Given the description of an element on the screen output the (x, y) to click on. 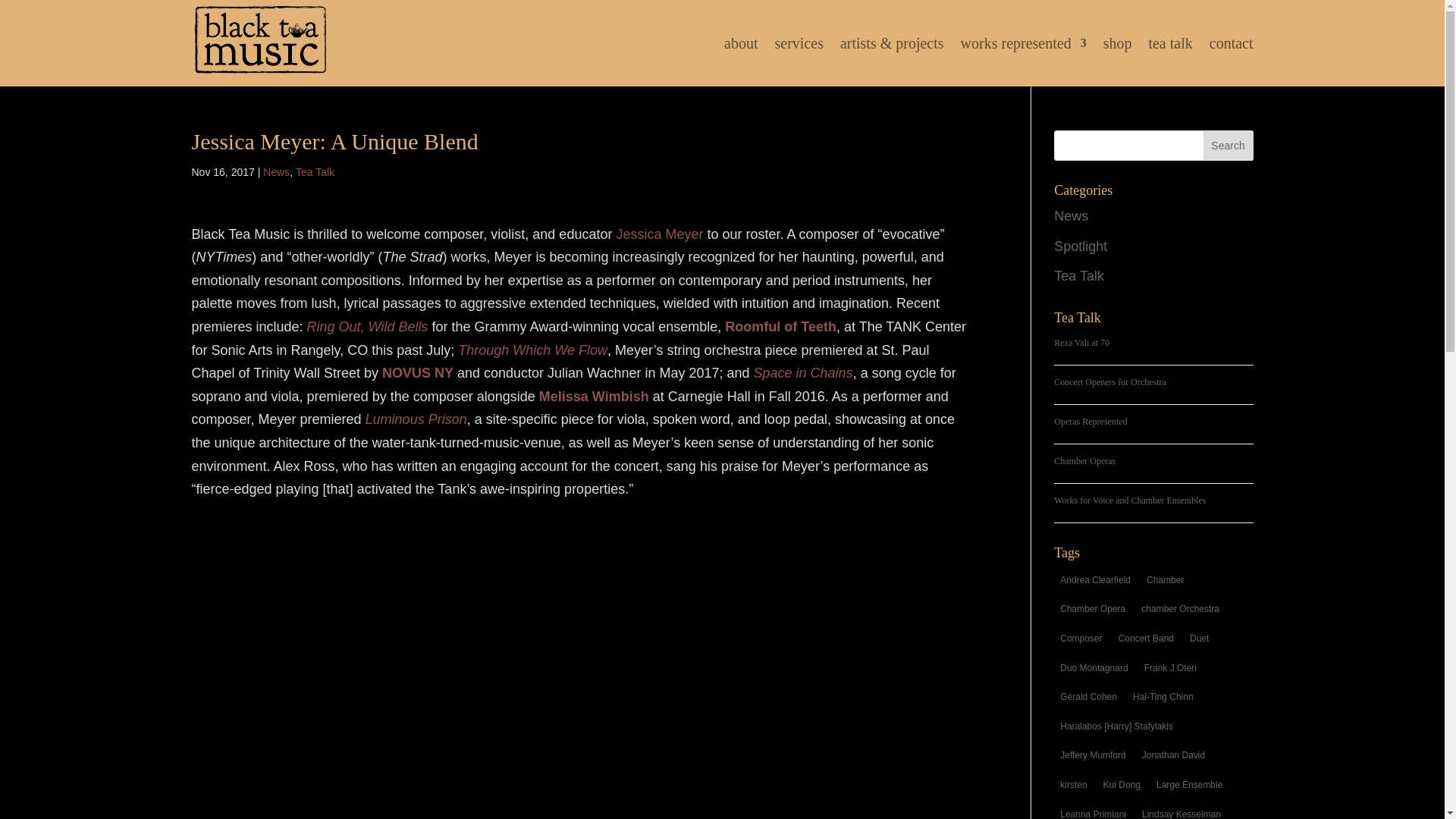
contact (1231, 61)
Tea Talk (314, 172)
Ring Out, Wild Bells (367, 326)
Roomful of Teeth (780, 326)
services (799, 61)
Through Which We Flow (532, 350)
Jessica Meyer (659, 233)
tea talk (1170, 61)
News (276, 172)
works represented (1023, 61)
Search (1228, 145)
